Given the description of an element on the screen output the (x, y) to click on. 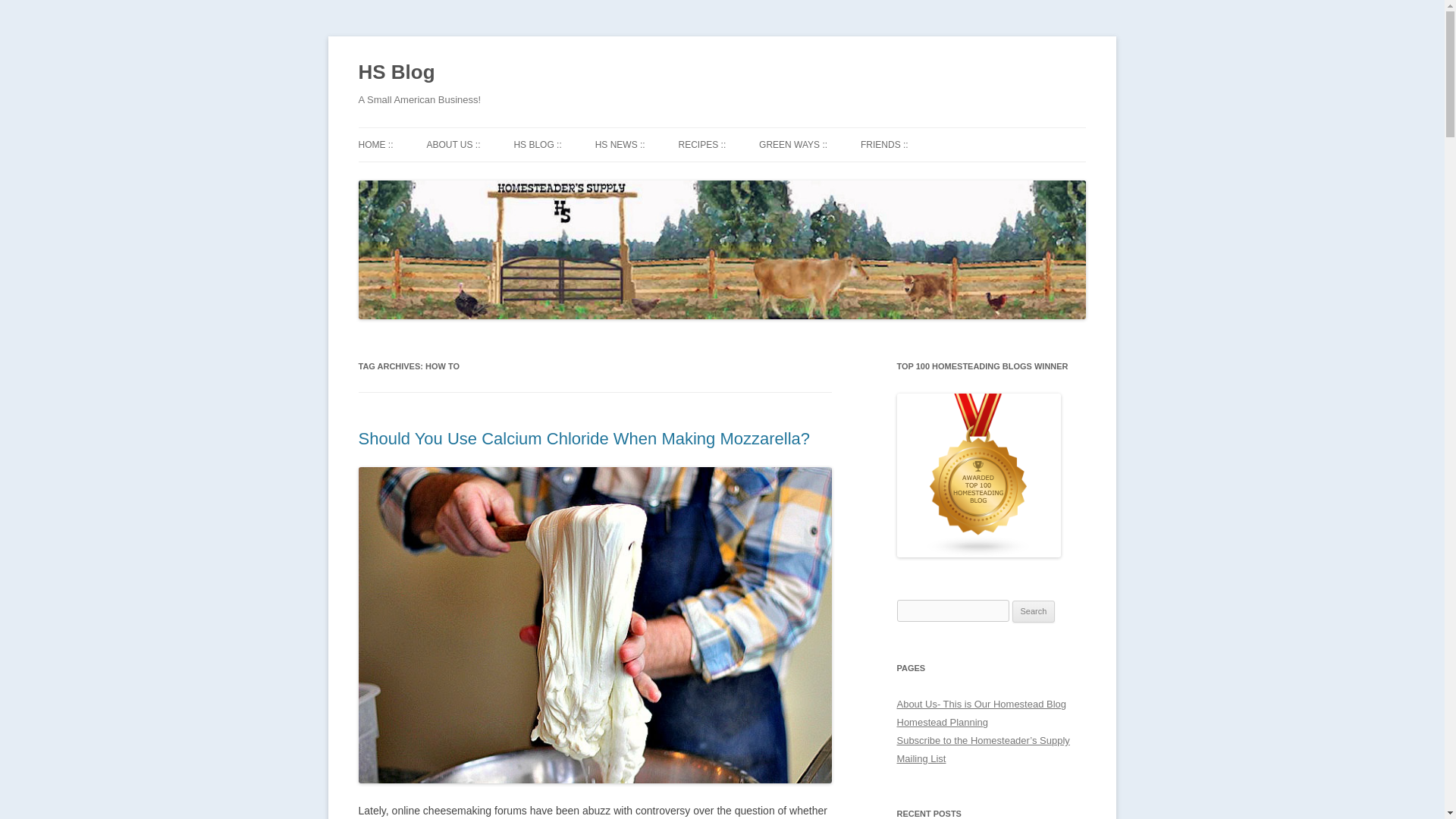
Homesteading blogs (977, 553)
GREEN WAYS :: (792, 144)
Search (1033, 611)
HS BLOG :: (536, 144)
ABOUT US :: (453, 144)
HS Blog (395, 72)
FRIENDS :: (884, 144)
HS NEWS :: (620, 144)
Should You Use Calcium Chloride When Making Mozzarella? (583, 438)
